Given the description of an element on the screen output the (x, y) to click on. 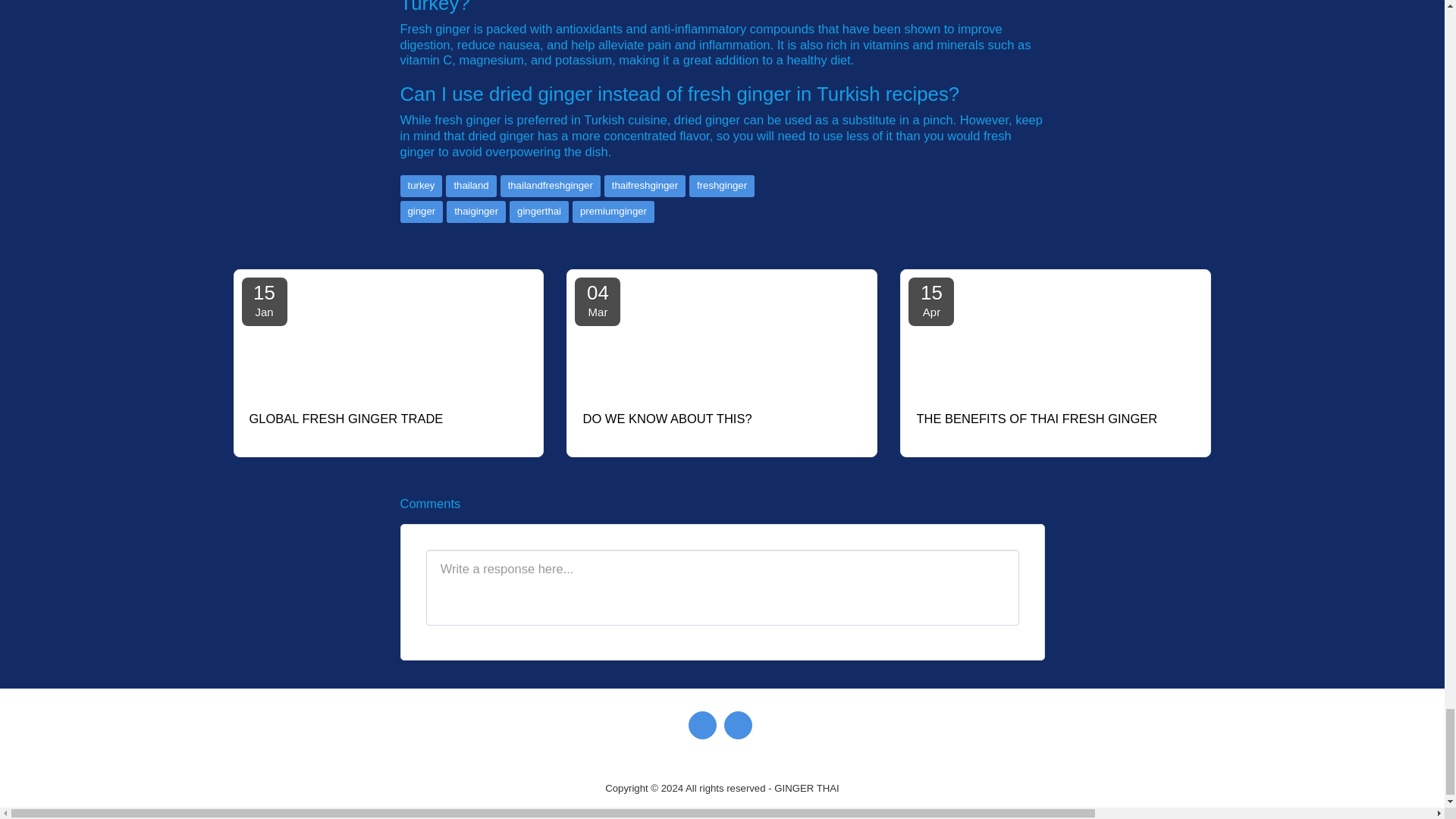
Share on Facebook (945, 233)
Pin it (1002, 233)
Tweet (973, 233)
RSS (1029, 233)
